Given the description of an element on the screen output the (x, y) to click on. 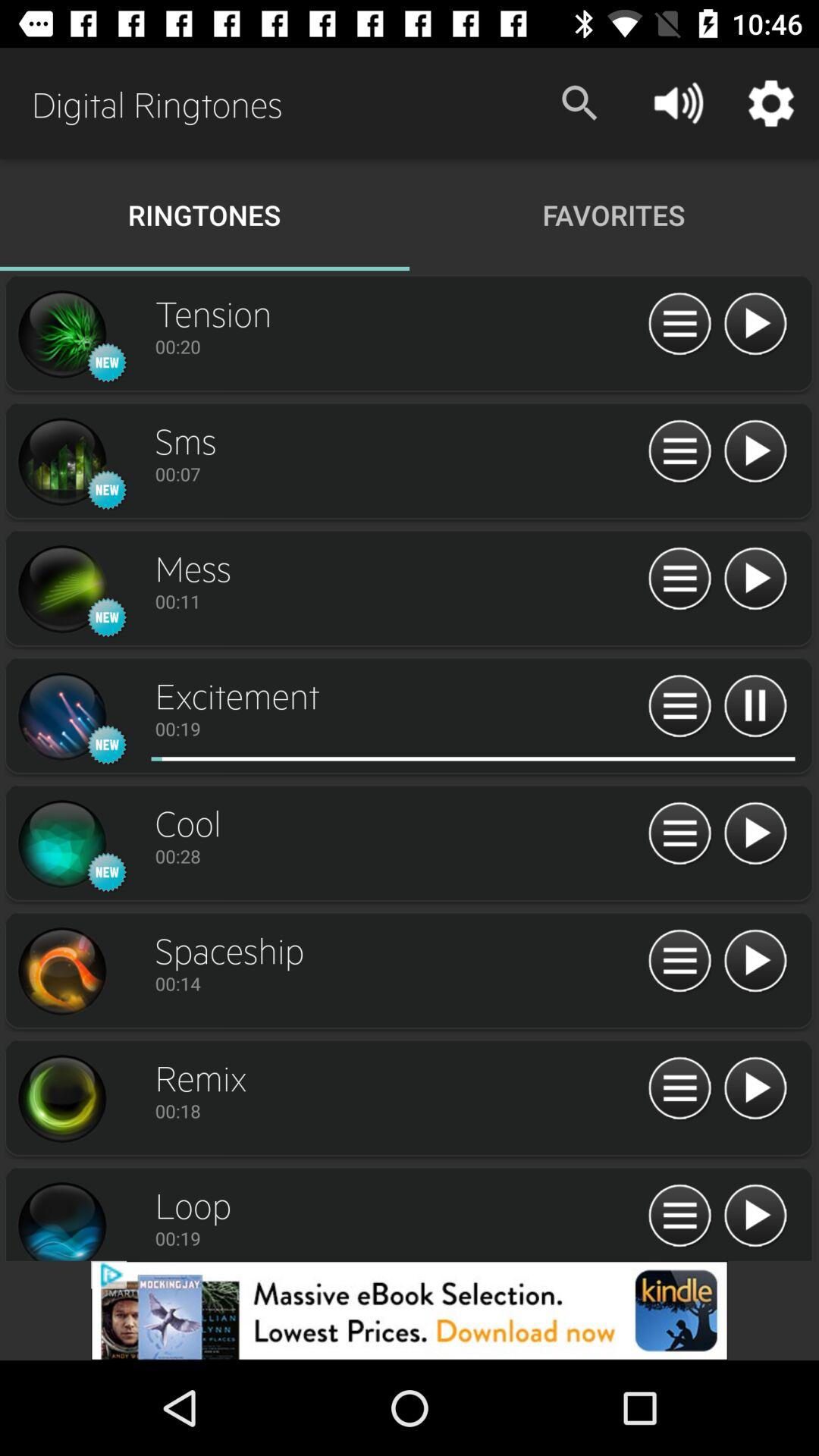
pause audio file (755, 706)
